Given the description of an element on the screen output the (x, y) to click on. 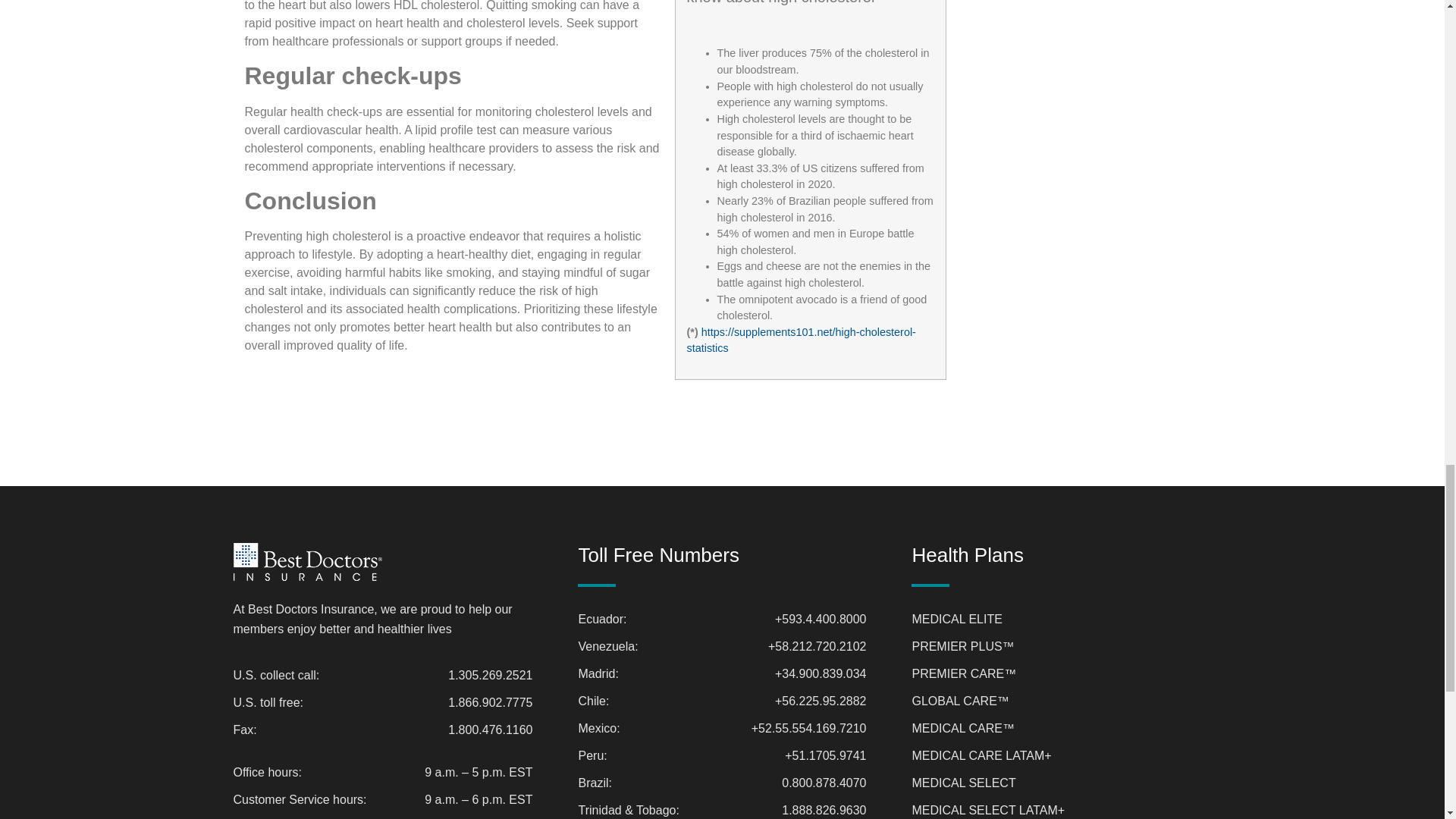
1.305.269.2521 (490, 675)
1.800.476.1160 (490, 730)
1.866.902.7775 (490, 702)
